Given the description of an element on the screen output the (x, y) to click on. 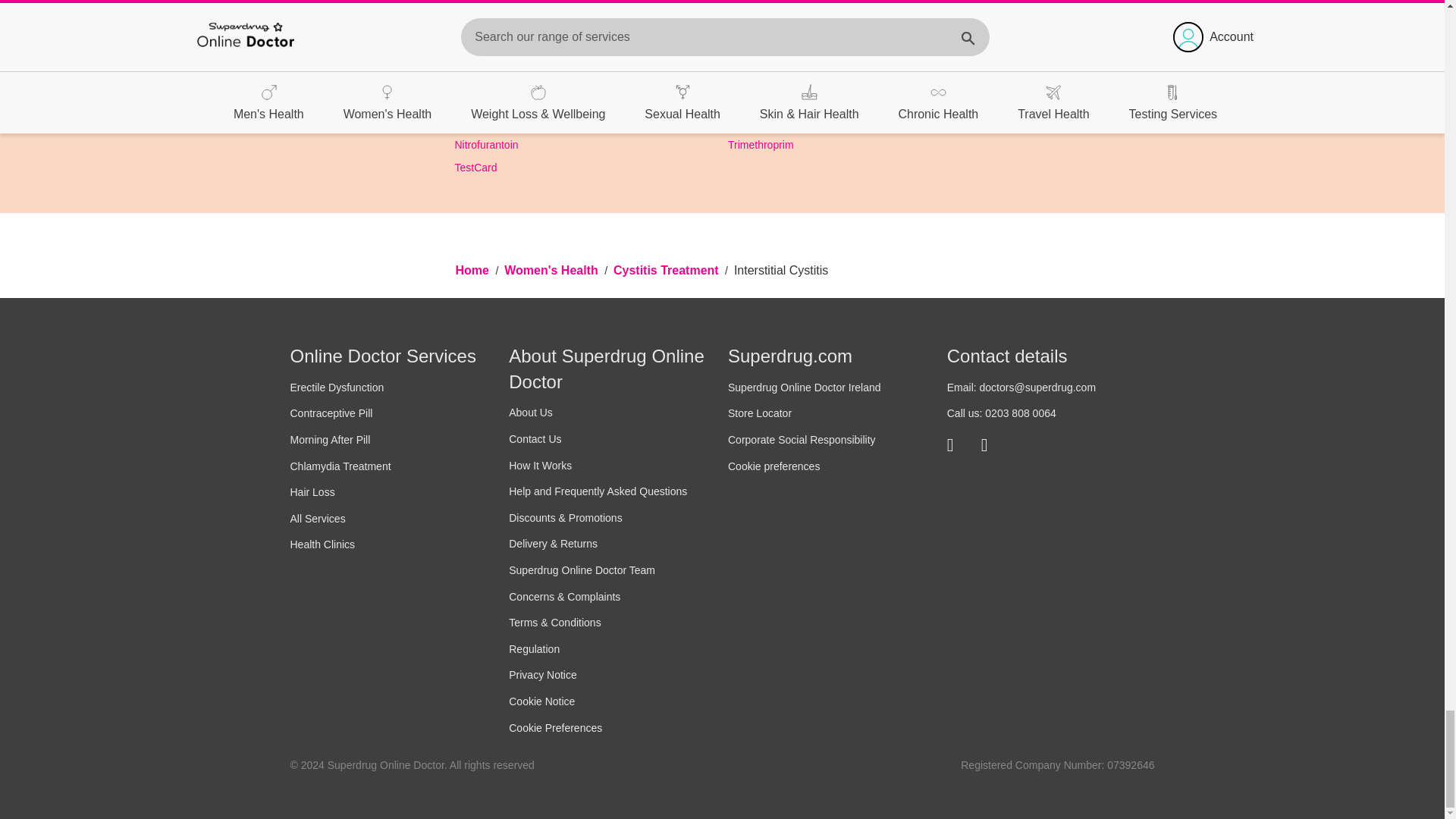
Customer reviews powered by Trustpilot (722, 17)
TestCard (475, 167)
Twitter (992, 444)
Cystitis Treatment (667, 269)
Facebook (958, 444)
Women's Health (552, 269)
Nitrofurantoin (486, 144)
Home (473, 269)
Trimethroprim (760, 144)
